Given the description of an element on the screen output the (x, y) to click on. 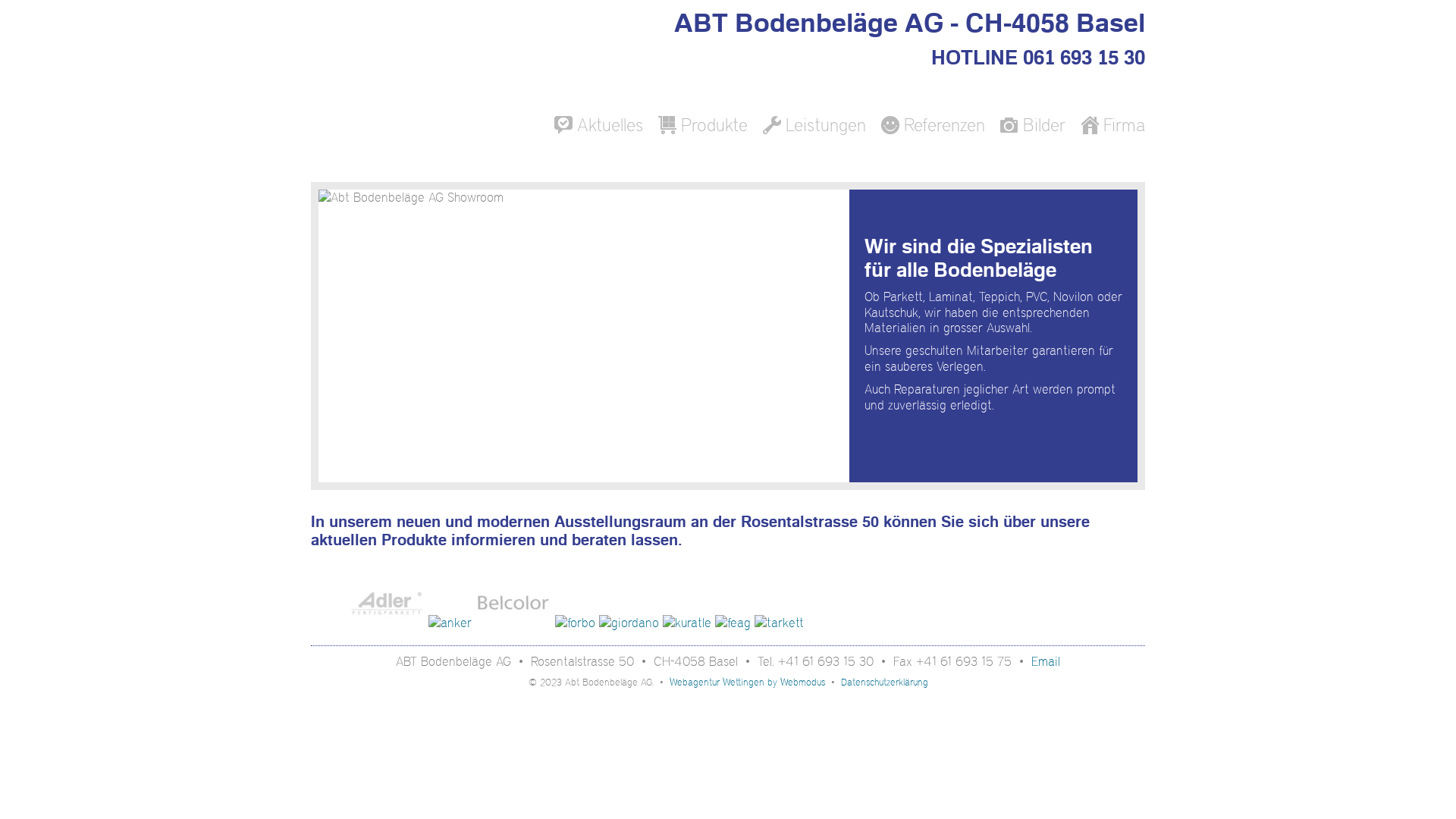
Produkte Element type: text (702, 124)
Bilder Element type: text (1032, 124)
Firma Element type: text (1112, 124)
Email Element type: text (1045, 660)
Leistungen Element type: text (814, 124)
Aktuelles Element type: text (598, 124)
Referenzen Element type: text (933, 124)
Webagentur Wettingen by Webmodus Element type: text (746, 681)
